Given the description of an element on the screen output the (x, y) to click on. 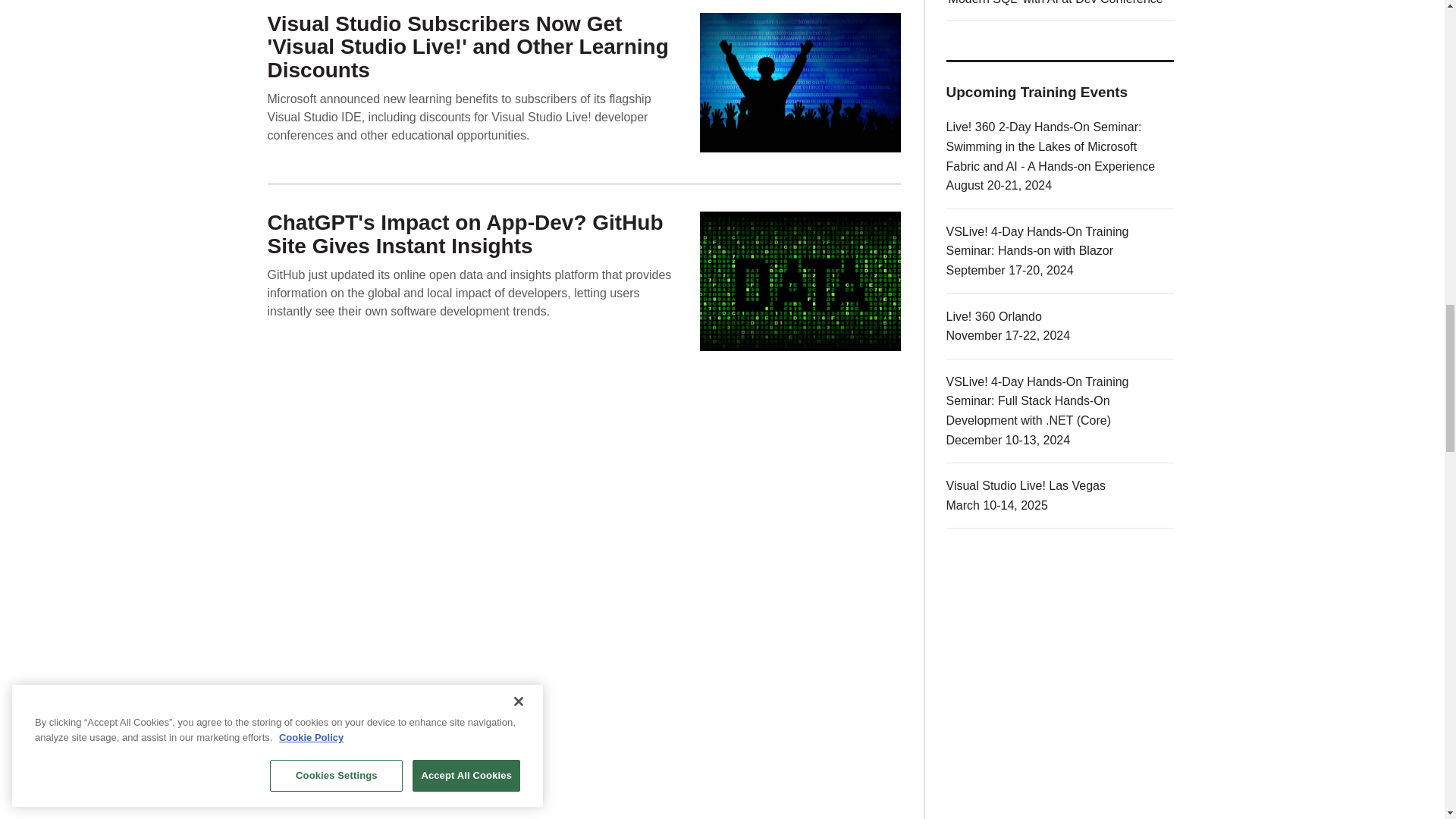
3rd party ad content (1059, 806)
3rd party ad content (1059, 660)
